Given the description of an element on the screen output the (x, y) to click on. 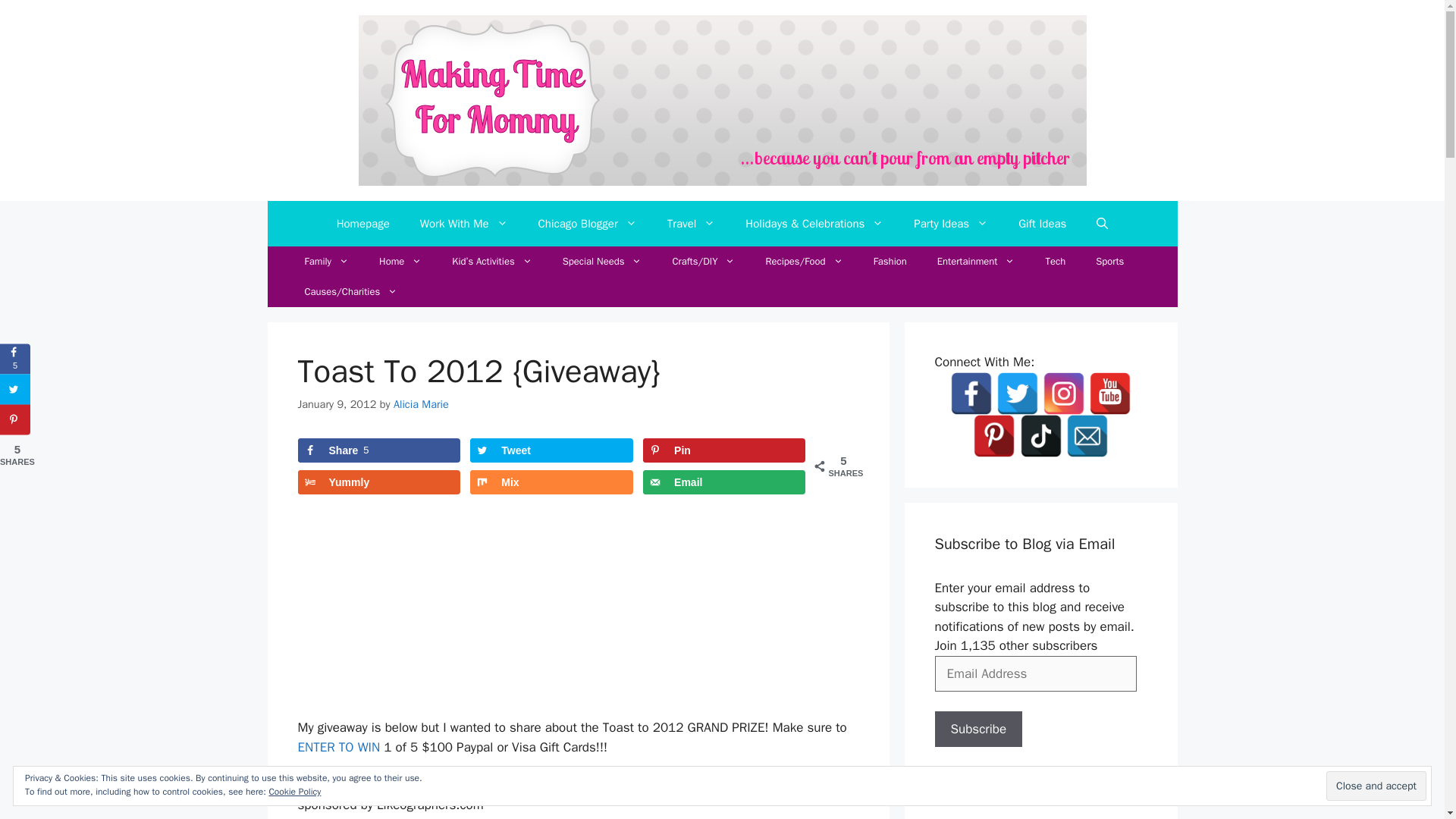
enter to win (338, 747)
Send over email (724, 482)
Work With Me (463, 223)
Save to Pinterest (724, 450)
just married with coupons (625, 785)
Chicago Blogger (587, 223)
View all posts by Alicia Marie (420, 404)
toast 2012 button (577, 610)
Homepage (362, 223)
Travel (691, 223)
Share on Yummly (378, 482)
sweep tight (488, 785)
Share on Mix (550, 482)
Share on Facebook (378, 450)
Making Time for Mommy (722, 100)
